Given the description of an element on the screen output the (x, y) to click on. 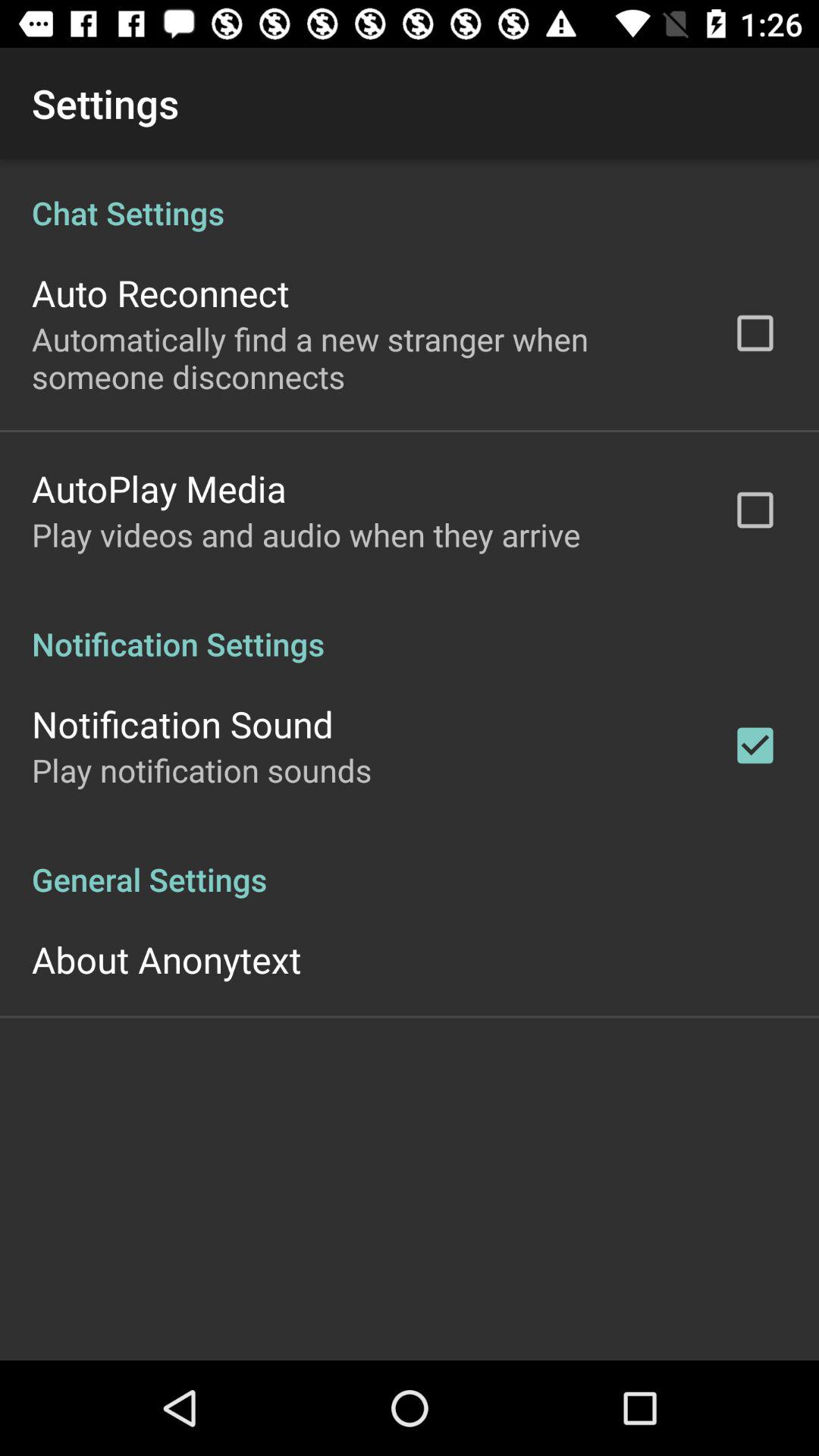
select icon above auto reconnect item (409, 196)
